Given the description of an element on the screen output the (x, y) to click on. 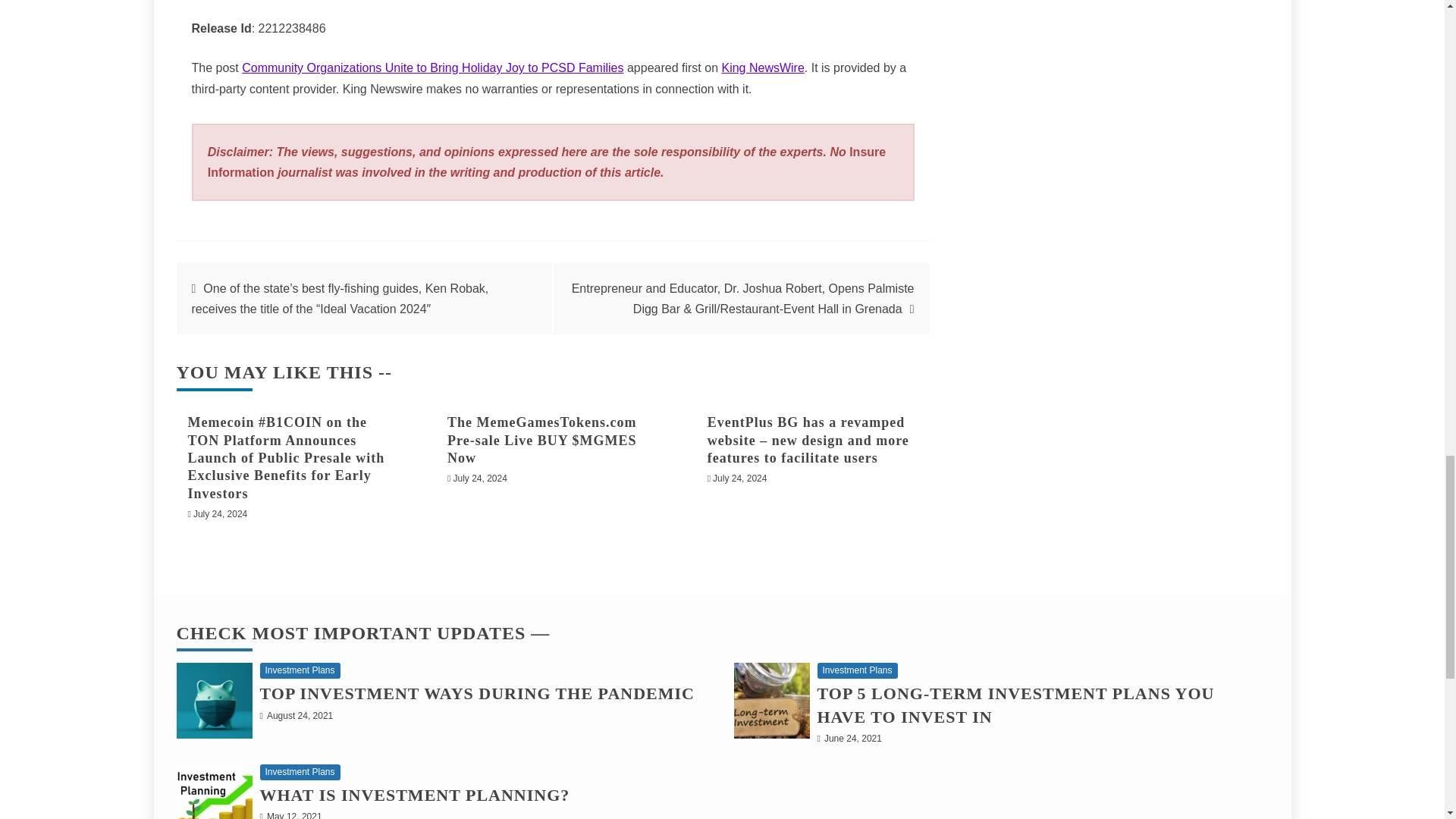
July 24, 2024 (479, 478)
July 24, 2024 (220, 513)
King NewsWire (761, 67)
July 24, 2024 (740, 478)
